Given the description of an element on the screen output the (x, y) to click on. 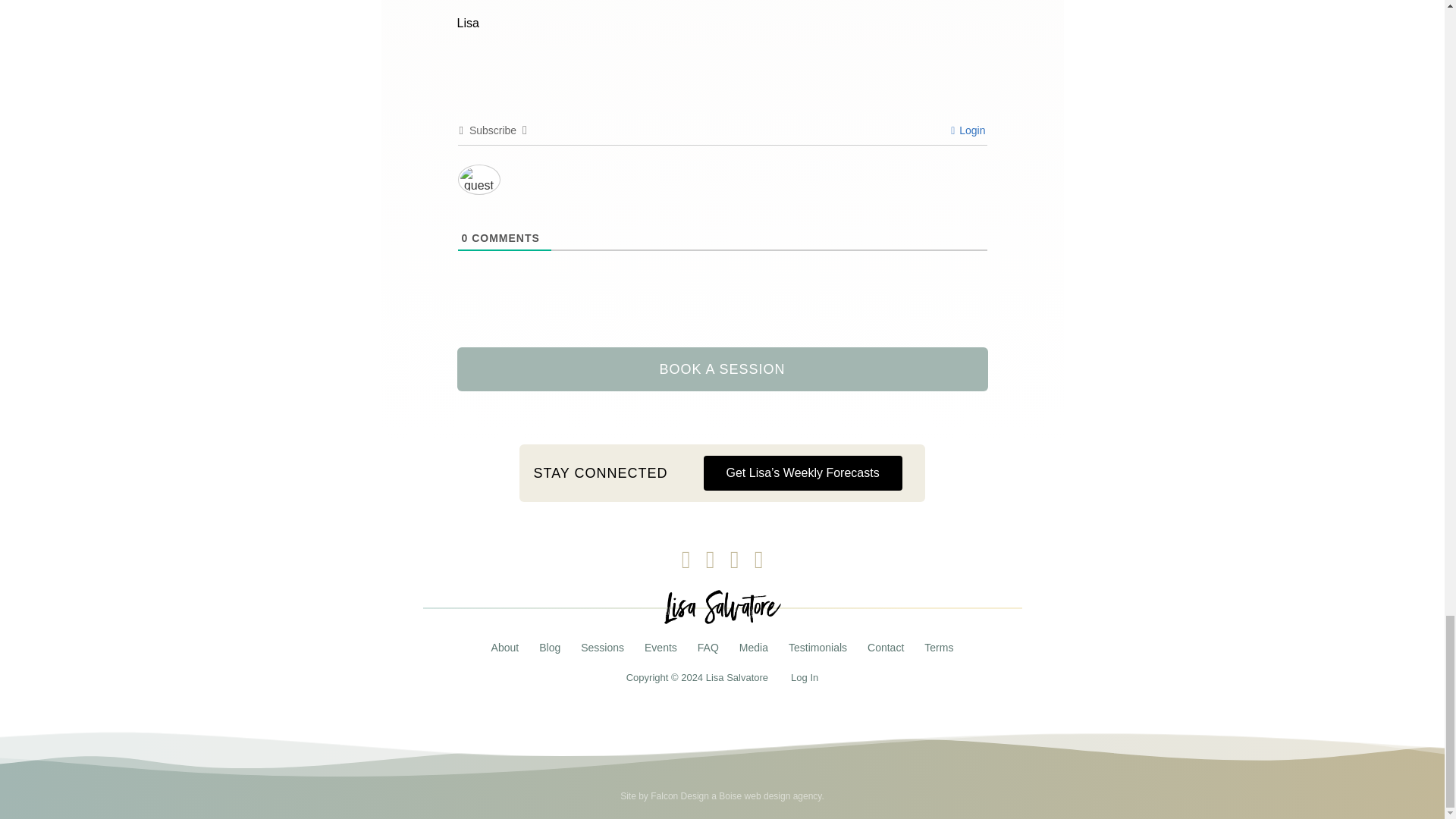
Login (967, 130)
